Given the description of an element on the screen output the (x, y) to click on. 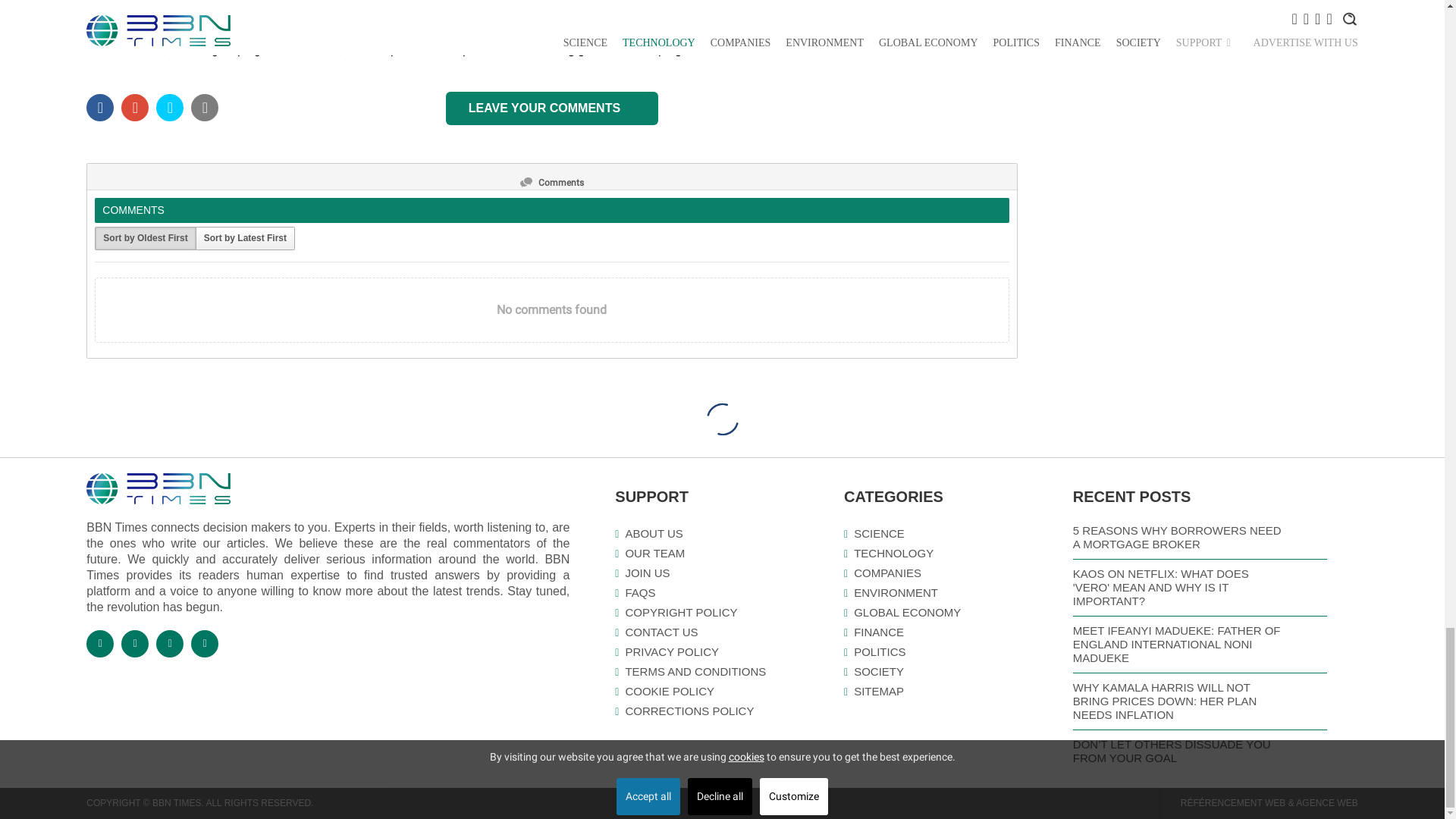
facebook (99, 109)
Twitter (134, 109)
linkedin (169, 109)
Share by Email (204, 109)
